Given the description of an element on the screen output the (x, y) to click on. 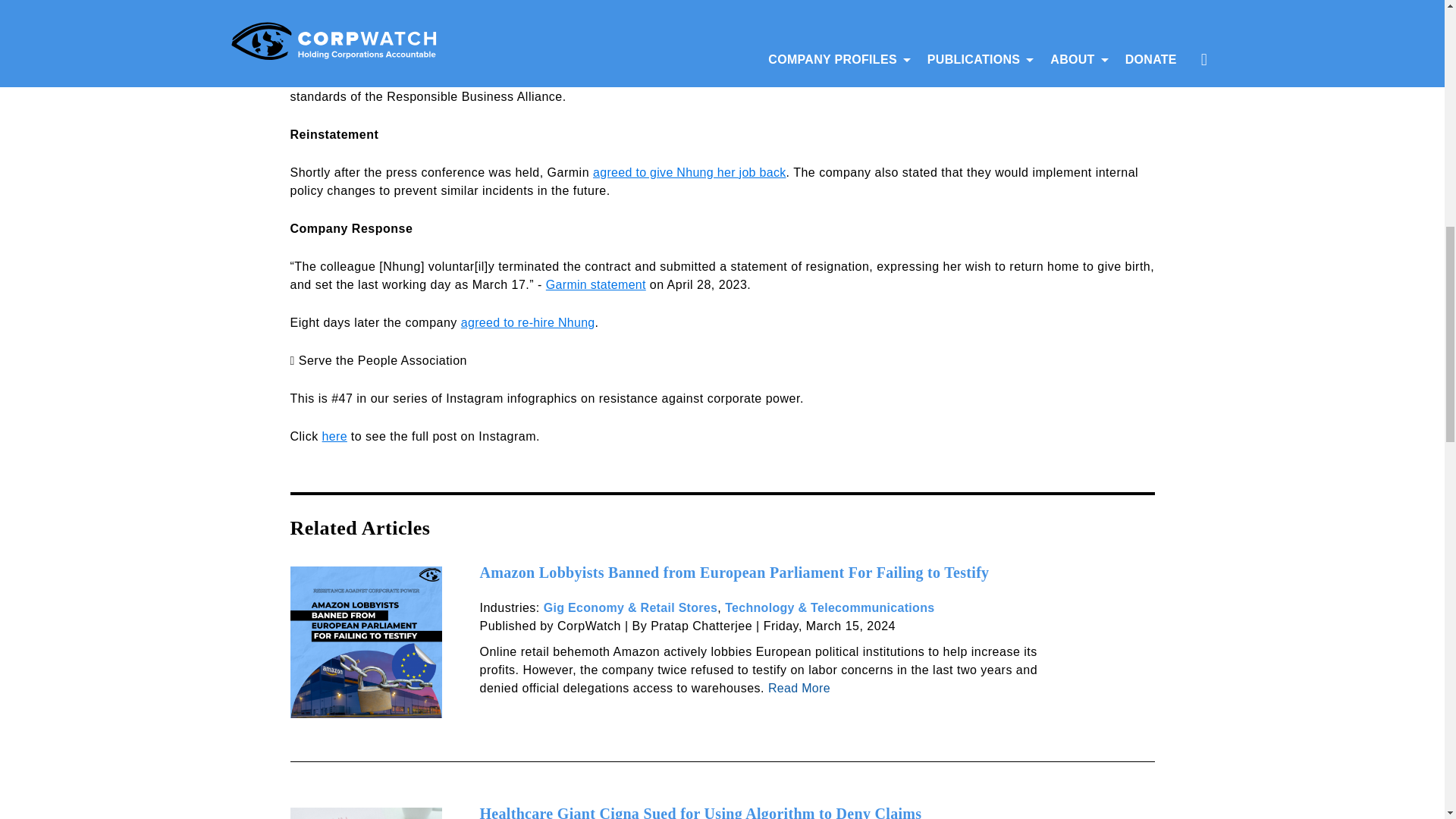
here (334, 435)
held a press conference (999, 59)
Garmin statement (596, 283)
agreed to give Nhung her job back (689, 171)
agreed to re-hire Nhung (528, 321)
Image (365, 644)
